Given the description of an element on the screen output the (x, y) to click on. 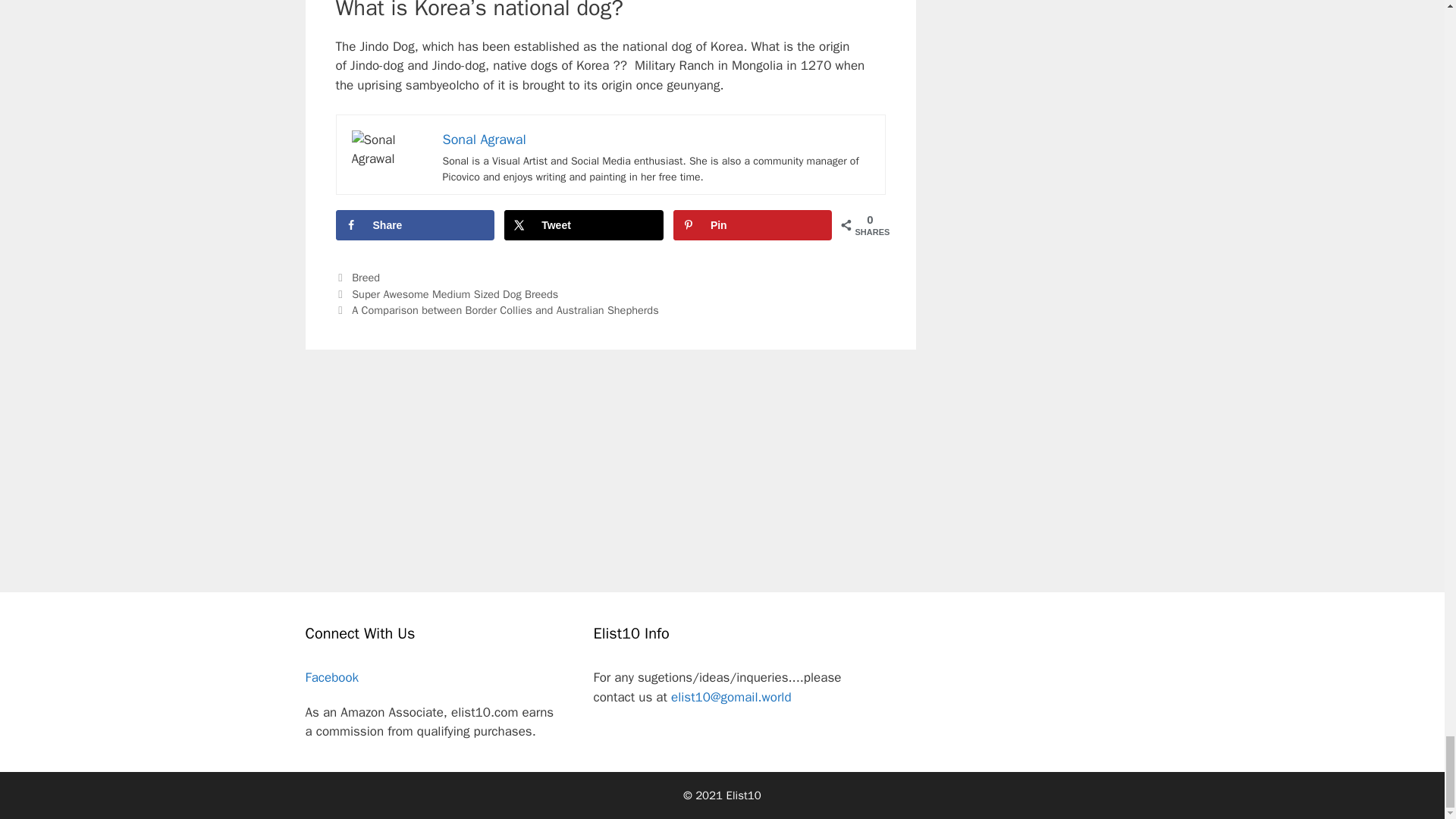
Sonal Agrawal (483, 139)
Tweet (583, 224)
Save to Pinterest (752, 224)
Share on Facebook (414, 224)
Facebook (331, 677)
Breed (366, 277)
Super Awesome Medium Sized Dog Breeds (454, 294)
Share (414, 224)
A Comparison between Border Collies and Australian Shepherds (505, 309)
Pin (752, 224)
